Given the description of an element on the screen output the (x, y) to click on. 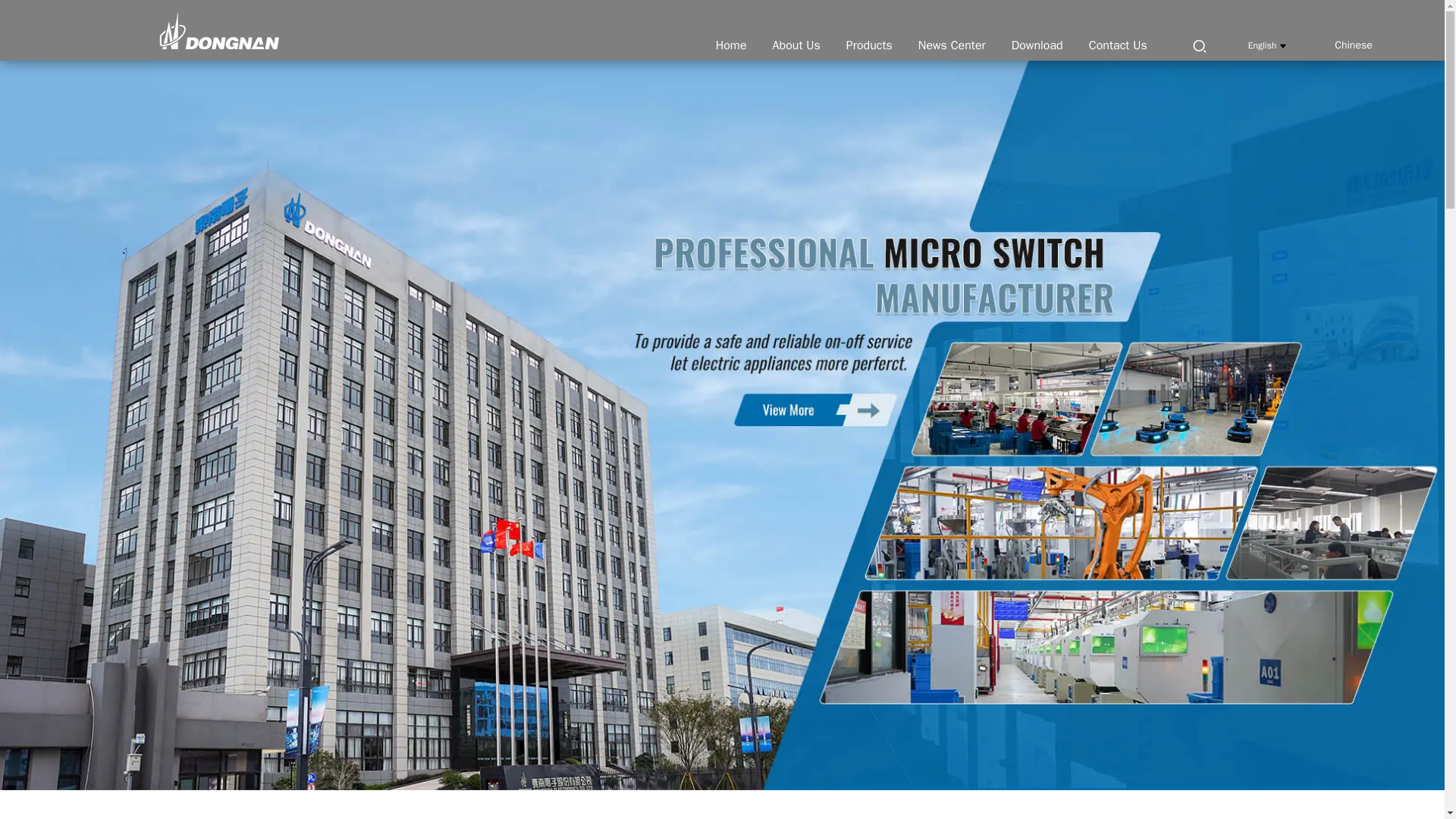
Products (869, 45)
Download (1037, 45)
About Us (795, 45)
News Center (951, 45)
Contact Us (1118, 45)
Chinese (1341, 44)
Download (1037, 45)
news (951, 45)
Contact Us (1118, 45)
about-us (795, 45)
